Given the description of an element on the screen output the (x, y) to click on. 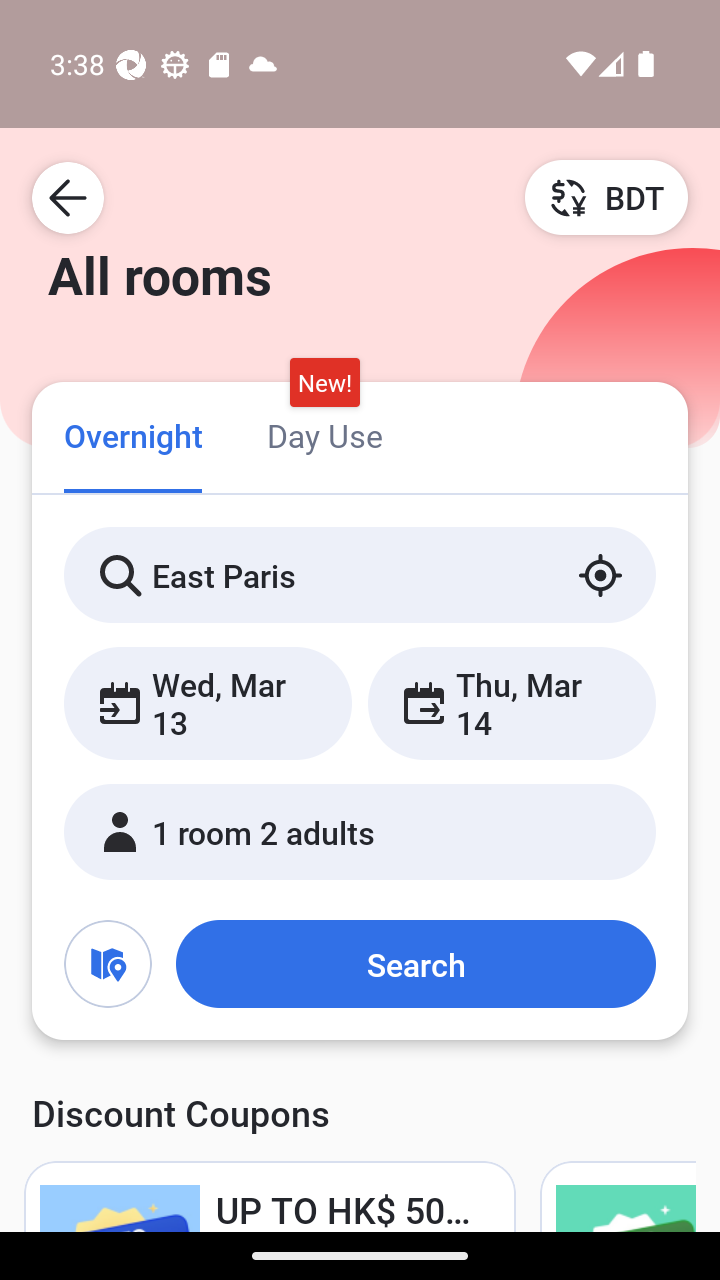
BDT (606, 197)
New! (324, 383)
Day Use (324, 434)
East Paris (359, 575)
Wed, Mar 13 (208, 703)
Thu, Mar 14 (511, 703)
1 room 2 adults (359, 831)
Search (415, 964)
